Given the description of an element on the screen output the (x, y) to click on. 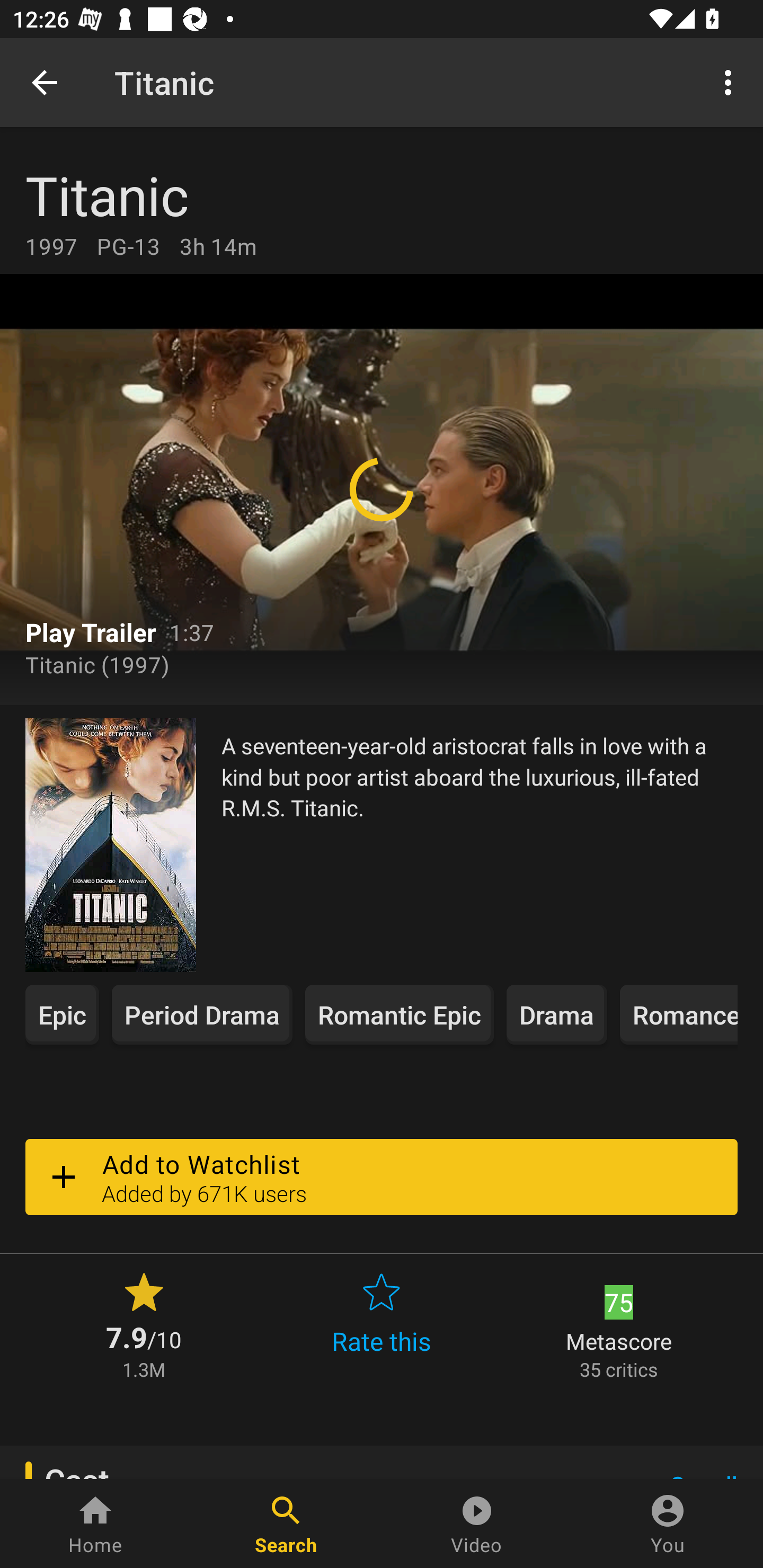
More options (731, 81)
Epic (62, 1014)
Period Drama (202, 1014)
Romantic Epic (399, 1014)
Drama (556, 1014)
Romance (678, 1014)
Add to Watchlist Added by 671K users (381, 1176)
7.9 /10 1.3M (143, 1323)
Rate this (381, 1323)
75 Metascore 35 critics (618, 1323)
Home (95, 1523)
Video (476, 1523)
You (667, 1523)
